Given the description of an element on the screen output the (x, y) to click on. 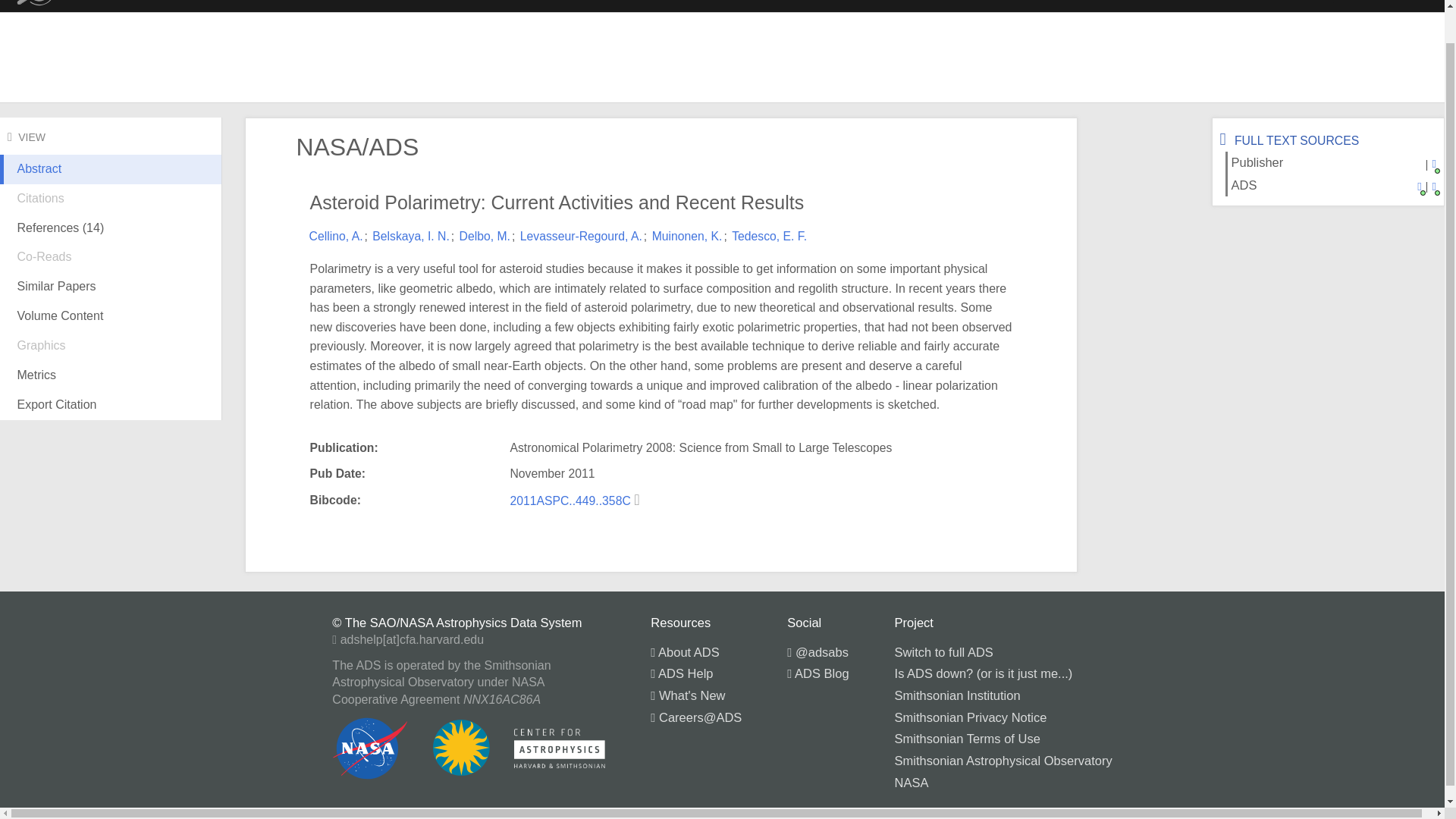
Similar Papers (110, 286)
Volume Content (110, 316)
Smithsonian Terms of Use (968, 738)
ADS Help (681, 673)
Abstract (110, 181)
Smithsonian Privacy Notice (970, 716)
Smithsonian Institution (957, 694)
About ADS (684, 652)
Switch to full ADS (943, 652)
What's New (687, 694)
